Given the description of an element on the screen output the (x, y) to click on. 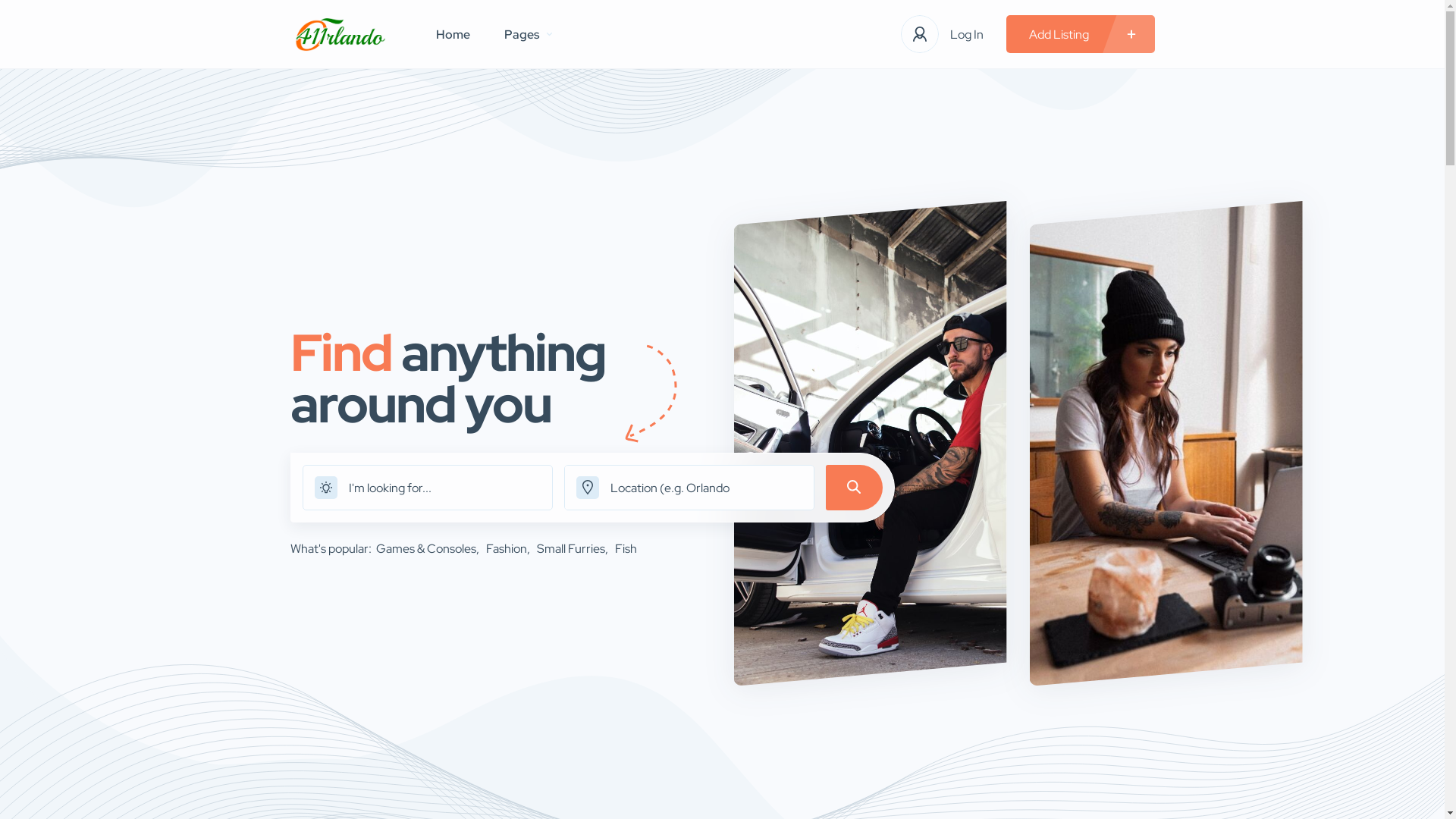
411 Orlando Element type: hover (339, 34)
Add Listing Element type: text (1079, 34)
Small Furries Element type: text (573, 548)
Home Element type: text (453, 34)
Fashion Element type: text (508, 548)
Fish Element type: text (625, 548)
Log In Element type: text (965, 33)
Pages Element type: text (528, 34)
Games & Consoles Element type: text (428, 548)
